Given the description of an element on the screen output the (x, y) to click on. 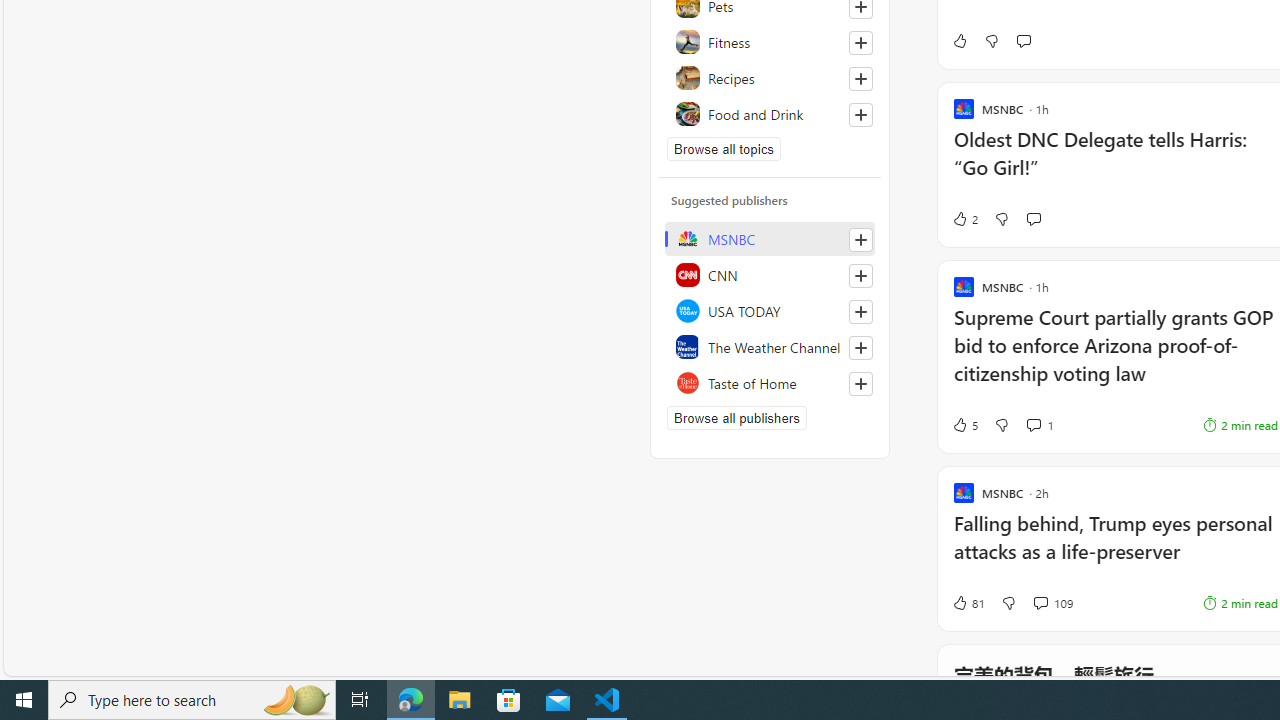
Follow this topic (860, 114)
5 Like (964, 425)
Follow this source (860, 384)
CNN (770, 274)
81 Like (968, 602)
View comments 1 Comment (1039, 425)
Follow this source (860, 384)
Taste of Home (770, 382)
Follow this topic (860, 114)
